Given the description of an element on the screen output the (x, y) to click on. 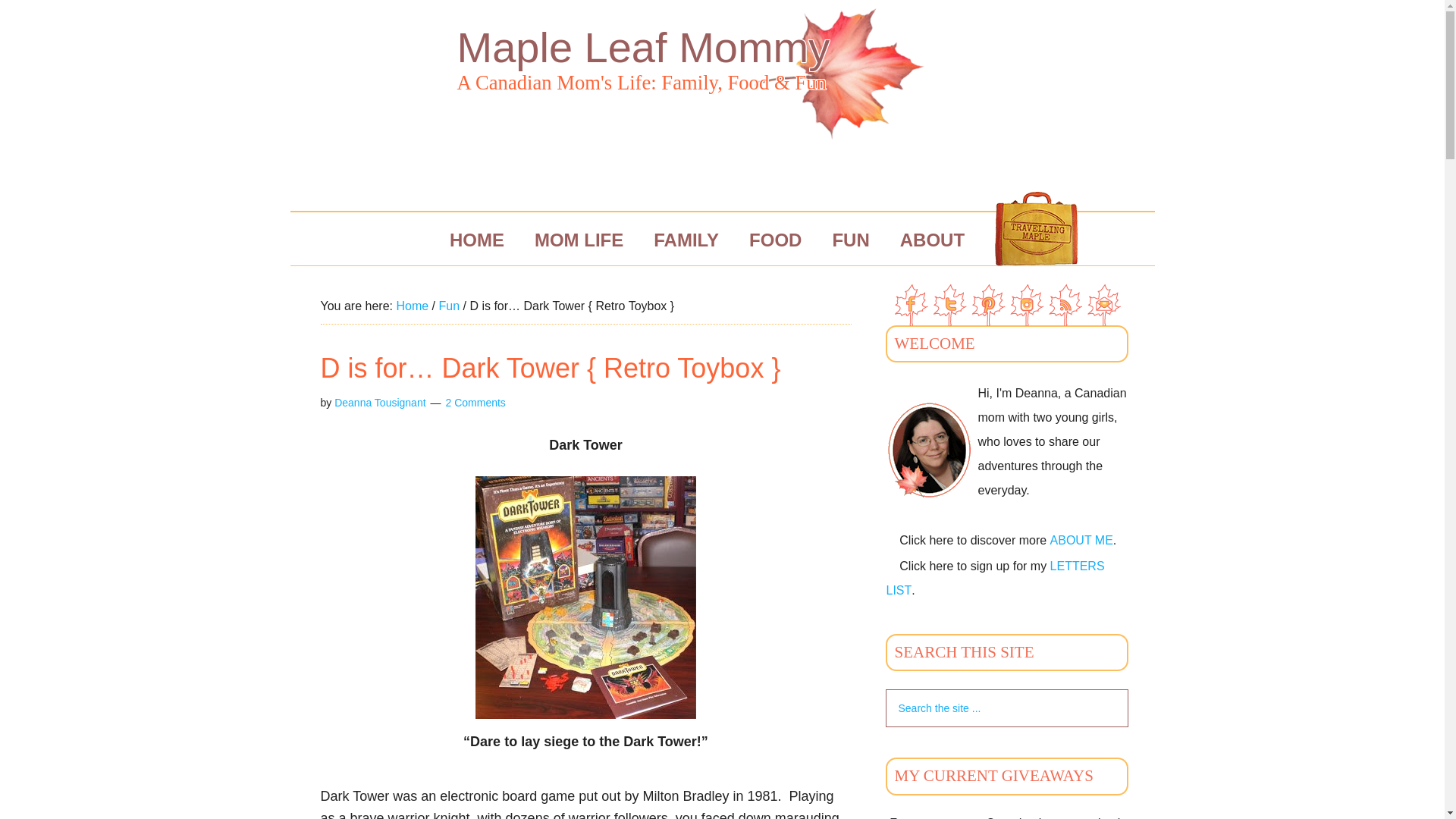
FOOD (774, 240)
FAMILY (686, 240)
ABOUT (932, 240)
Home (412, 305)
FUN (849, 240)
Maple Leaf Mommy (643, 47)
MOM LIFE (579, 240)
Fun (449, 305)
